Given the description of an element on the screen output the (x, y) to click on. 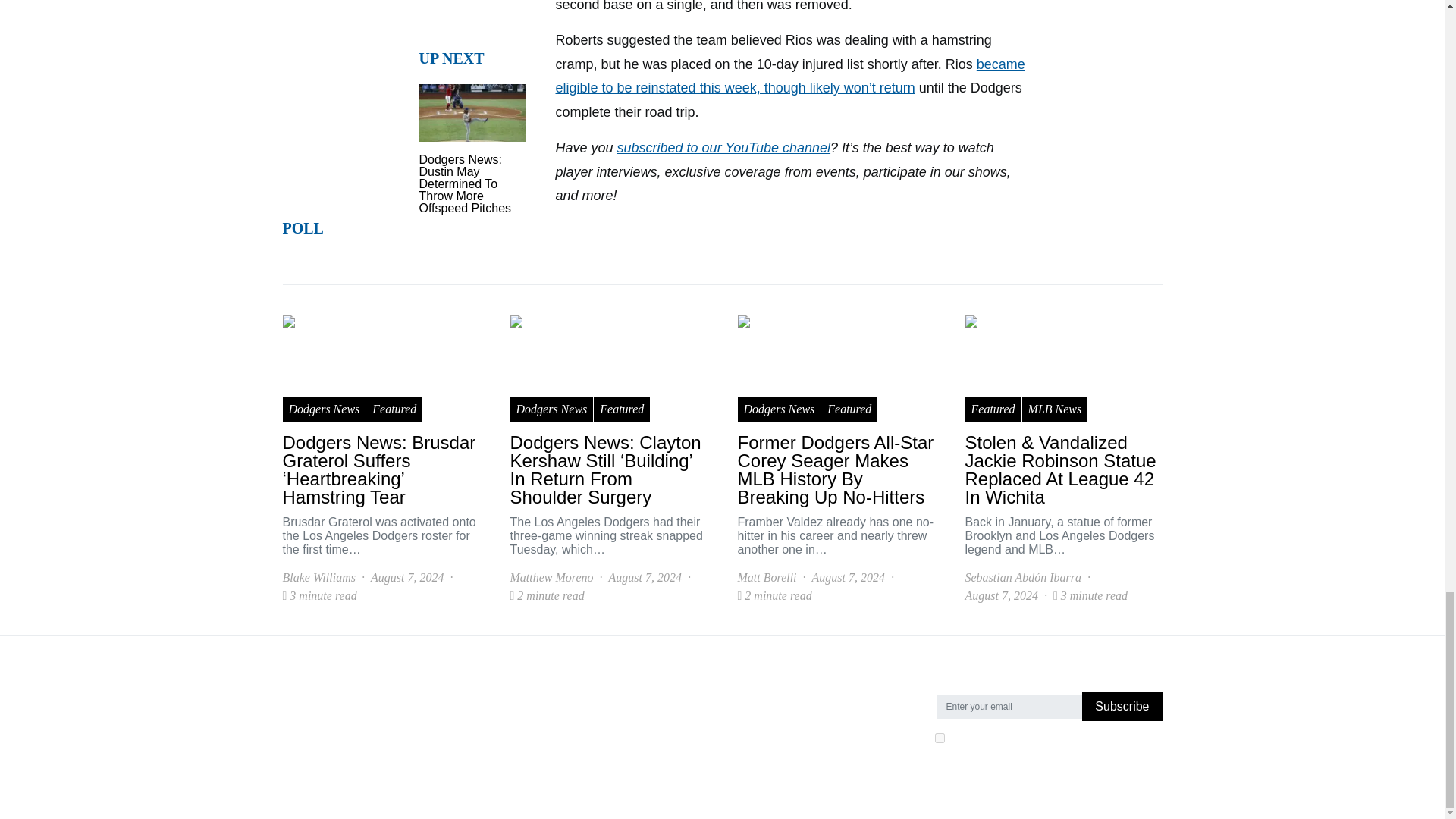
on (938, 737)
View all posts by Matt Borelli (766, 577)
View all posts by Matthew Moreno (550, 577)
View all posts by Blake Williams (318, 577)
